Given the description of an element on the screen output the (x, y) to click on. 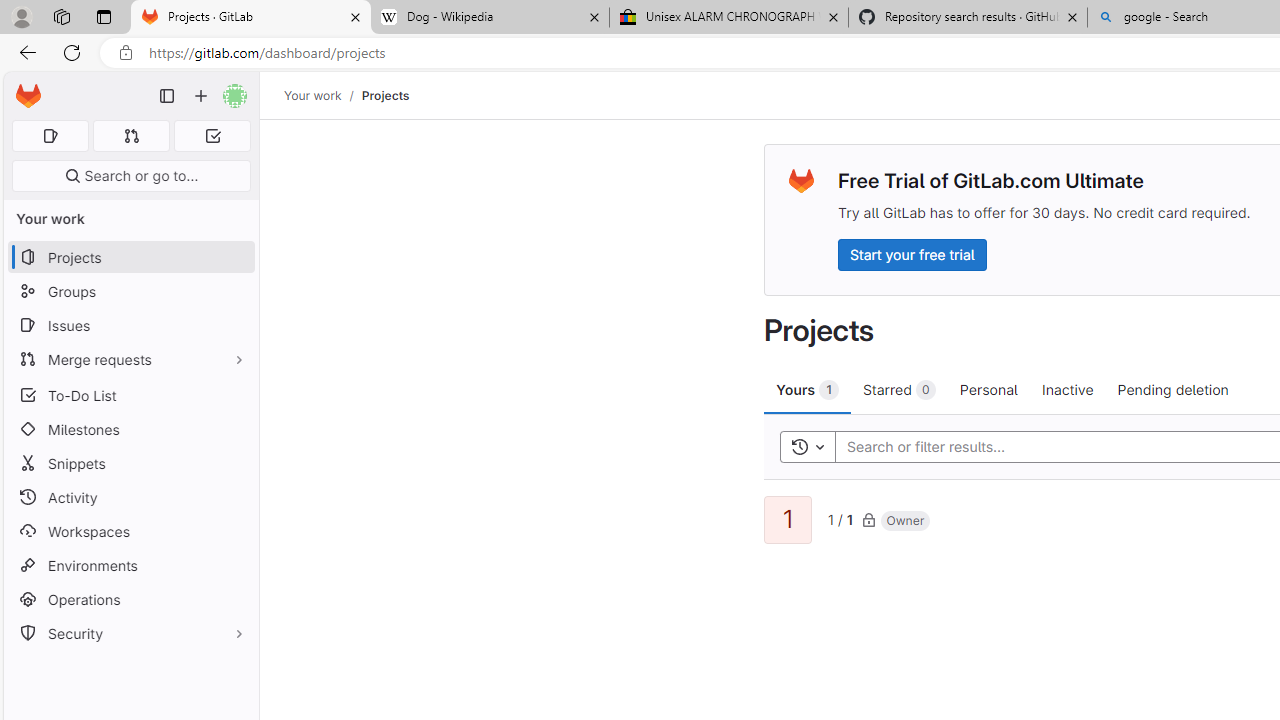
Starred 0 (899, 389)
Activity (130, 497)
Yours 1 (808, 389)
Dog - Wikipedia (490, 17)
Groups (130, 291)
Projects (384, 95)
Snippets (130, 463)
Operations (130, 599)
To-Do List (130, 394)
Create new... (201, 96)
Start your free trial (912, 254)
1 (787, 519)
Toggle history (807, 445)
